Given the description of an element on the screen output the (x, y) to click on. 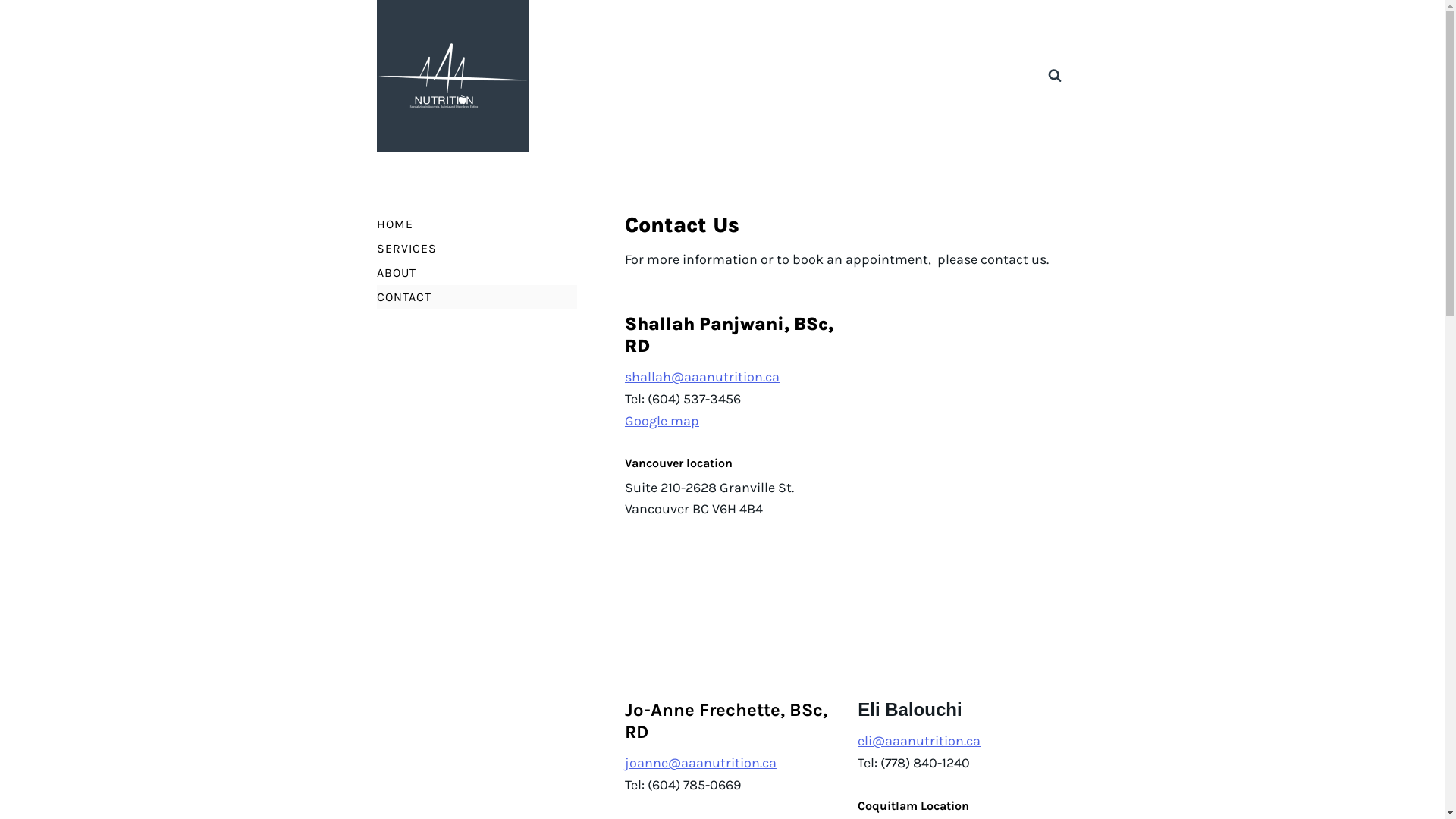
ABOUT Element type: text (476, 272)
Google map Element type: text (661, 420)
joanne@aaanutrition.ca Element type: text (700, 762)
HOME Element type: text (476, 224)
CONTACT Element type: text (476, 297)
eli@aaanutrition.ca Element type: text (918, 740)
shallah@aaanutrition.ca Element type: text (701, 376)
SERVICES Element type: text (476, 248)
